Given the description of an element on the screen output the (x, y) to click on. 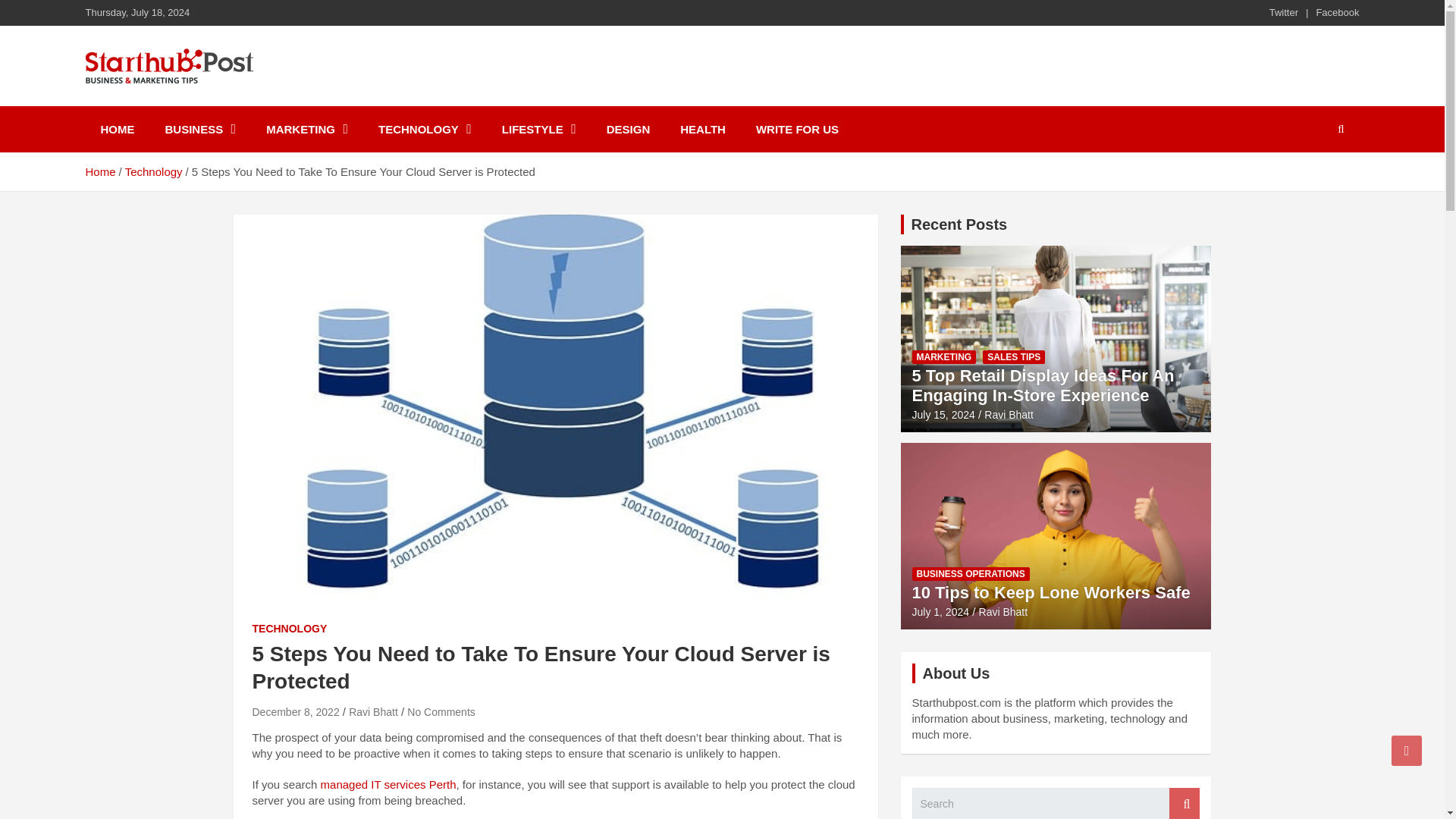
10 Tips to Keep Lone Workers Safe (940, 612)
DESIGN (628, 129)
Go to Top (1406, 750)
No Comments (440, 711)
LIFESTYLE (538, 129)
Starthub Post (183, 102)
HOME (116, 129)
Facebook (1337, 12)
BUSINESS (200, 129)
Ravi Bhatt (373, 711)
December 8, 2022 (295, 711)
TECHNOLOGY (424, 129)
WRITE FOR US (797, 129)
